Given the description of an element on the screen output the (x, y) to click on. 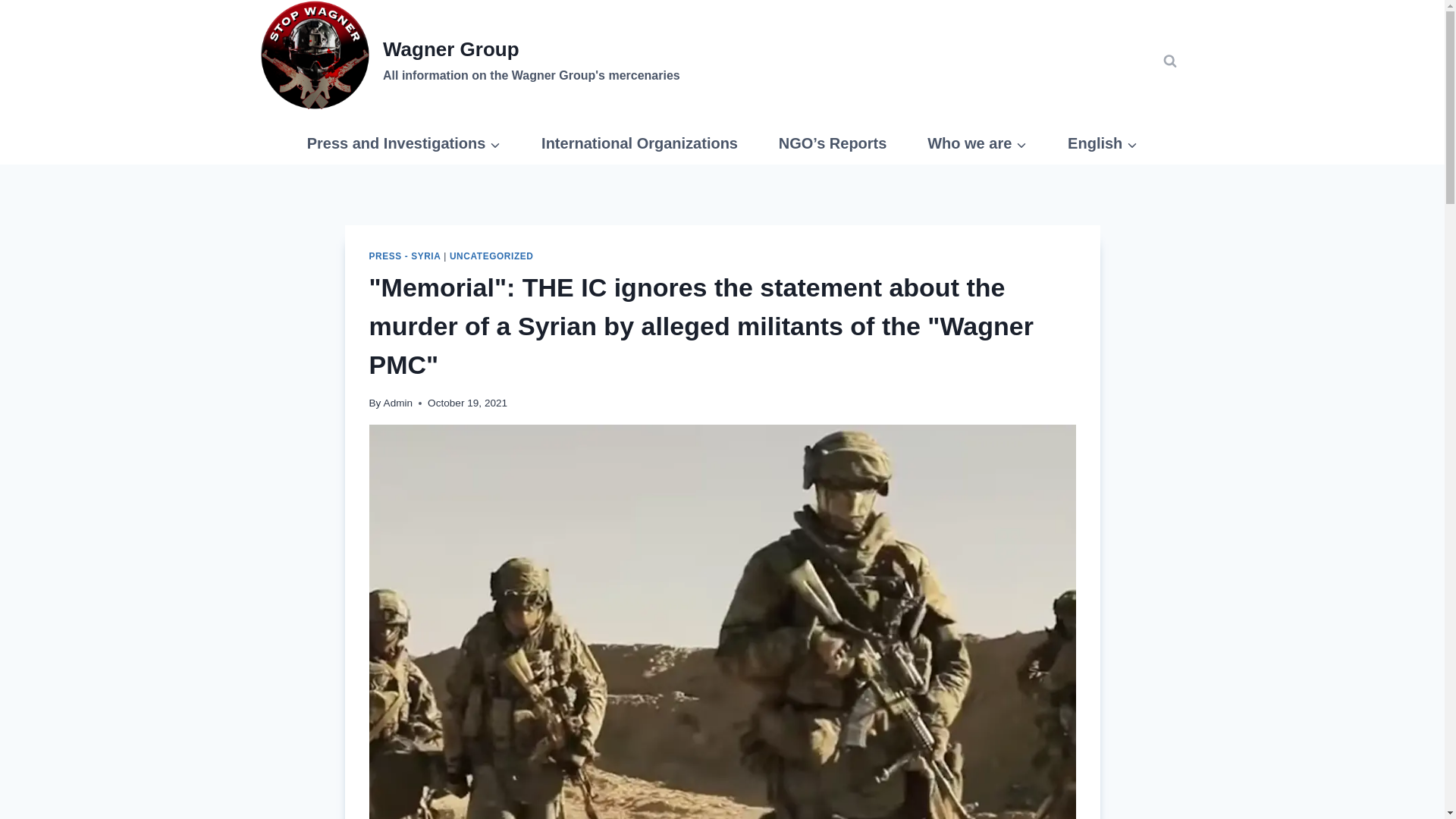
Who we are (976, 143)
International Organizations (639, 143)
PRESS - SYRIA (404, 255)
English (1101, 143)
UNCATEGORIZED (491, 255)
Press and Investigations (403, 143)
Admin (398, 402)
